Given the description of an element on the screen output the (x, y) to click on. 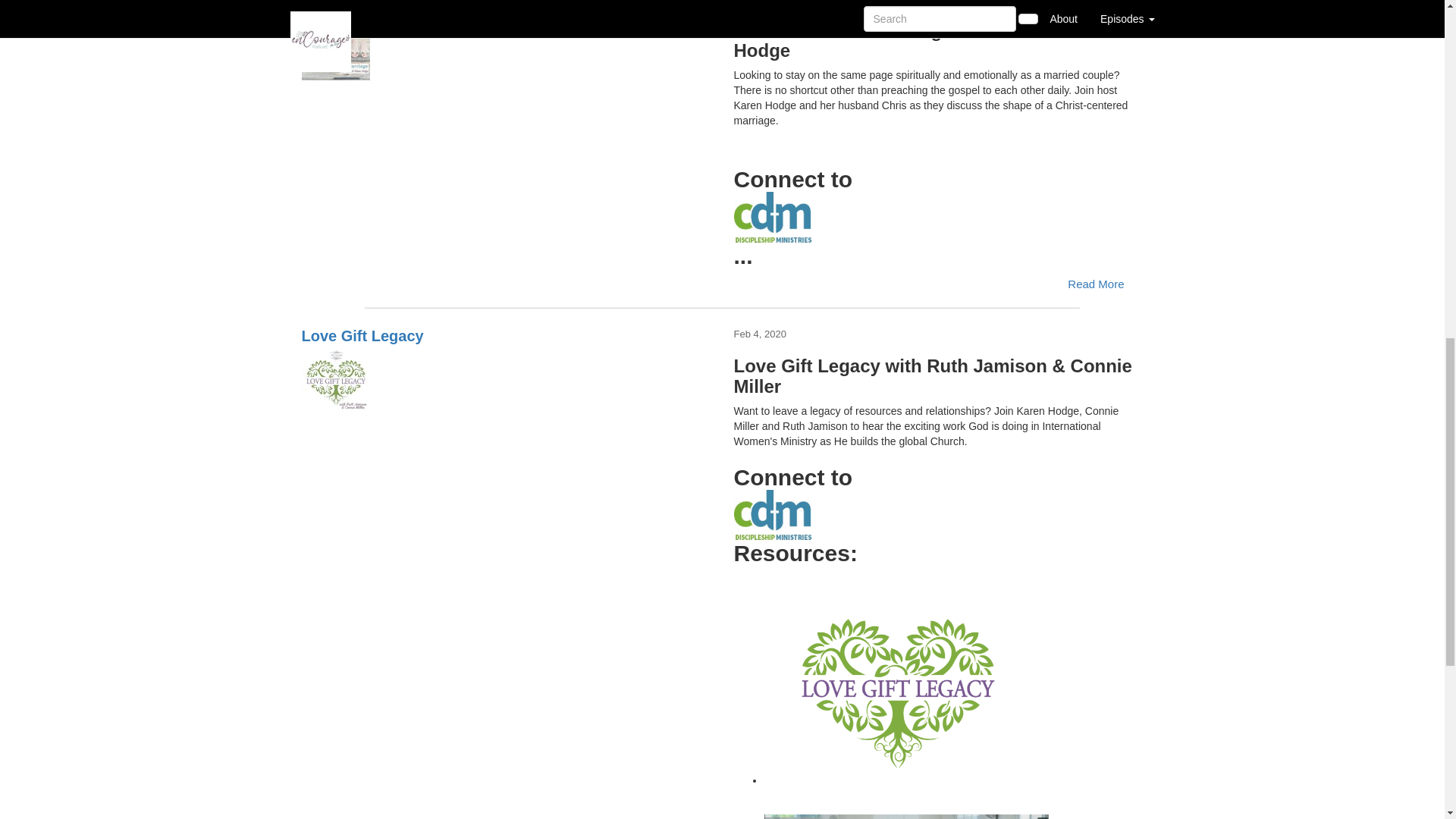
Love Gift Legacy (506, 382)
Christ-Centered Marriage (506, 46)
